Given the description of an element on the screen output the (x, y) to click on. 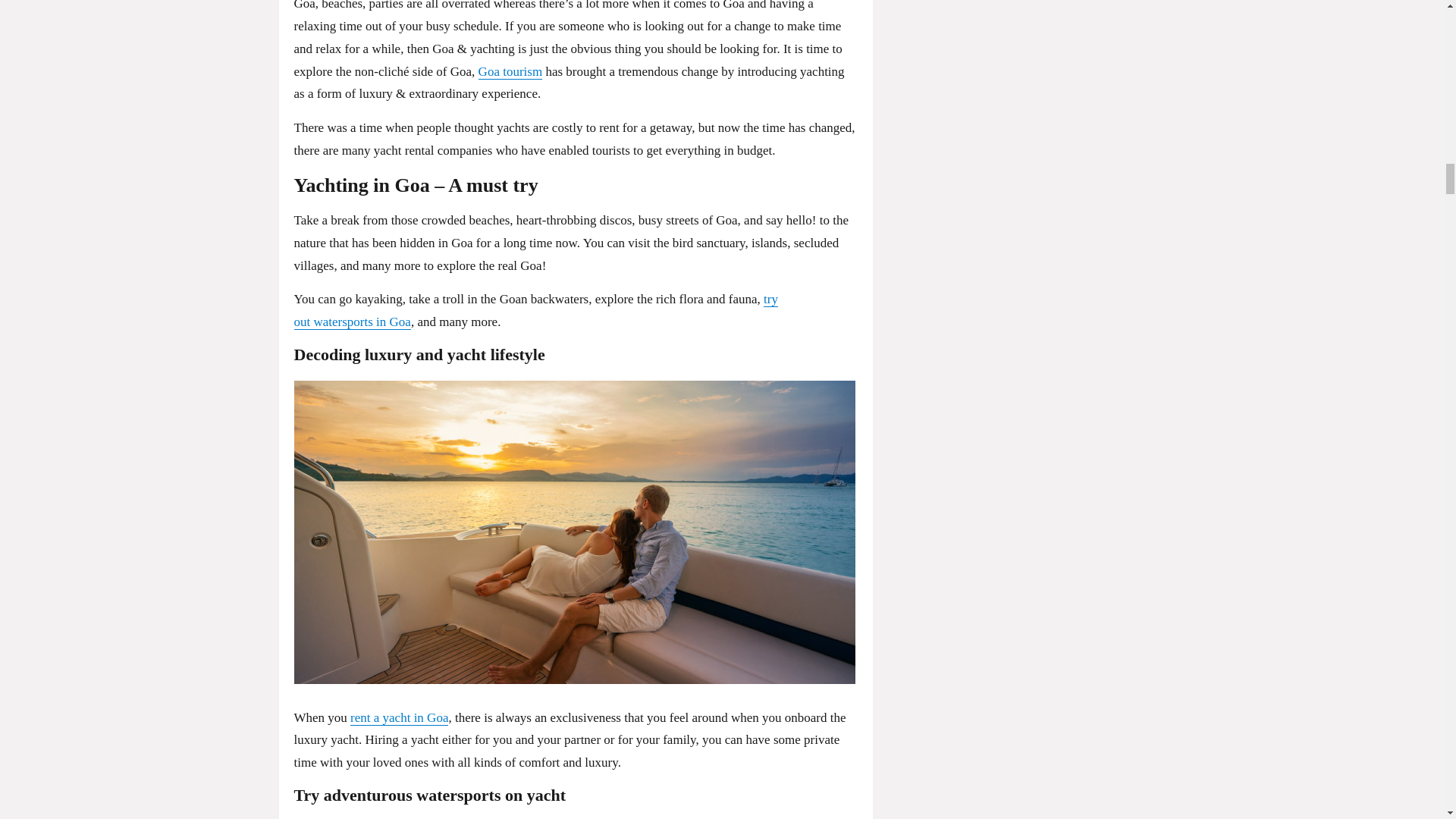
rent a yacht in Goa (399, 717)
try out watersports in Goa (535, 310)
Goa tourism (511, 71)
